Given the description of an element on the screen output the (x, y) to click on. 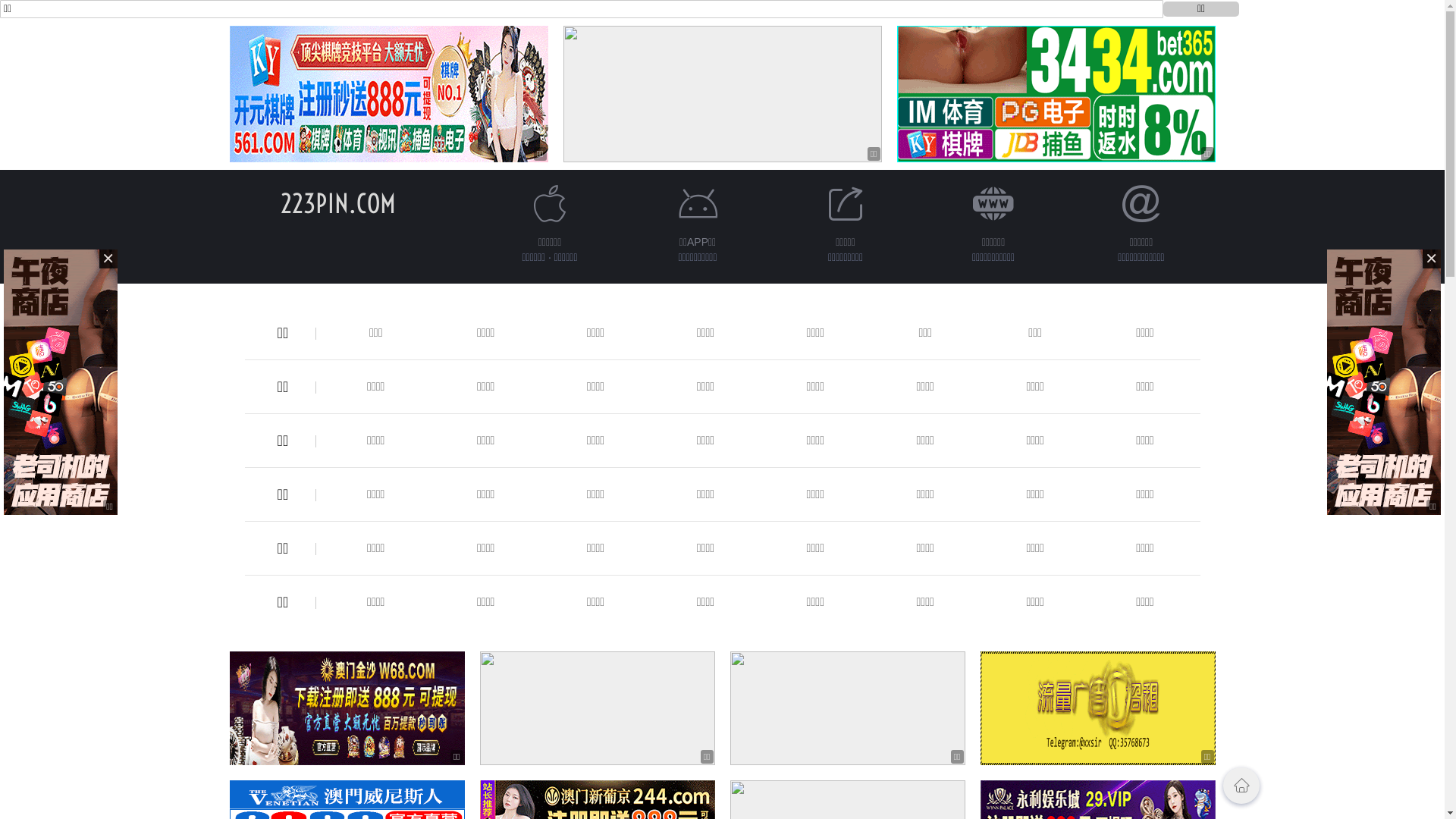
223PIN.COM Element type: text (337, 203)
